Given the description of an element on the screen output the (x, y) to click on. 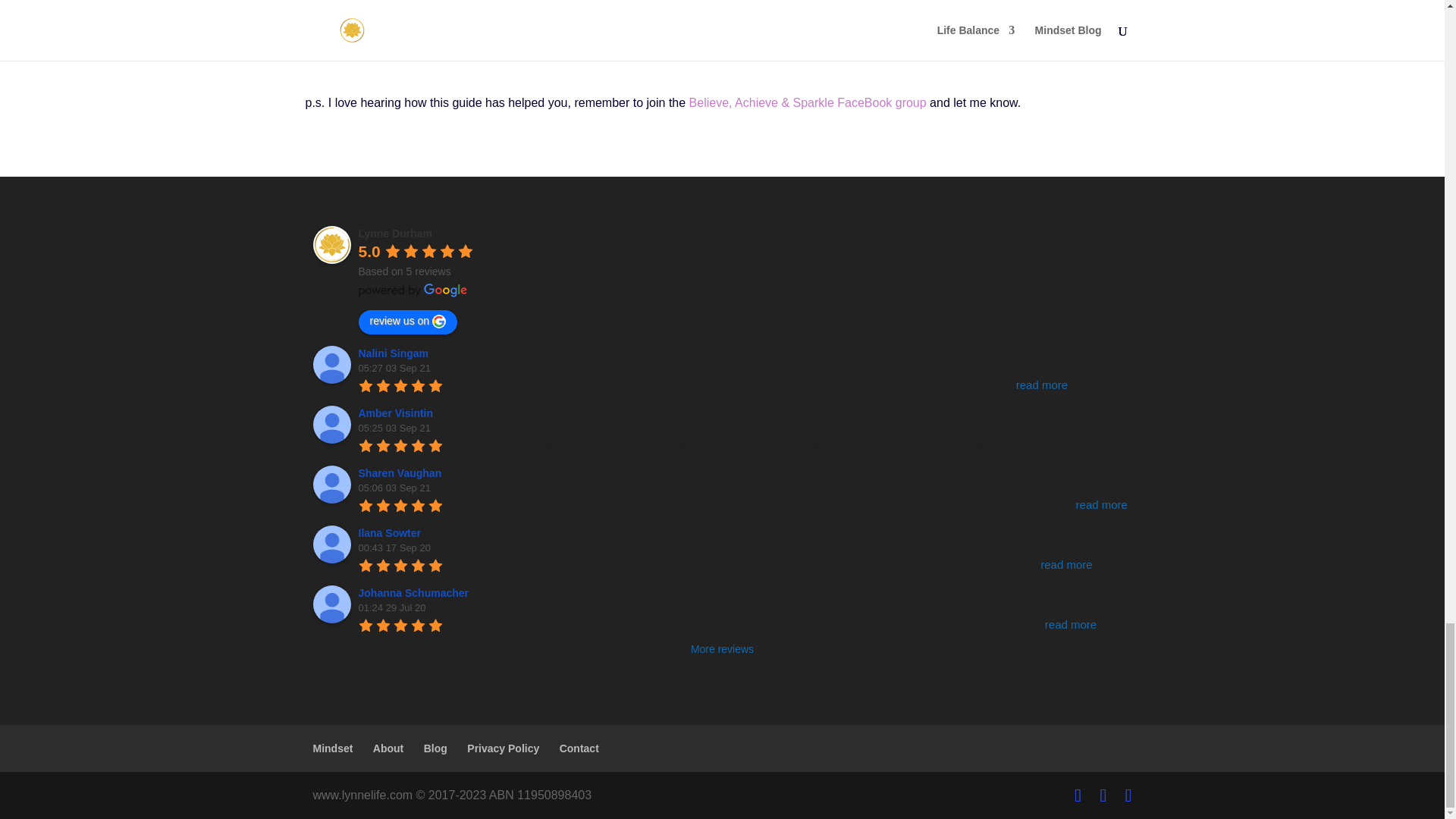
Amber Visintin (398, 413)
review us on (407, 322)
About (387, 748)
Sharen Vaughan (401, 472)
Lynne Durham (331, 244)
Amber Visintin (331, 424)
More reviews (722, 648)
Nalini Singam (331, 364)
Ilana Sowter (391, 532)
Blog (434, 748)
